Given the description of an element on the screen output the (x, y) to click on. 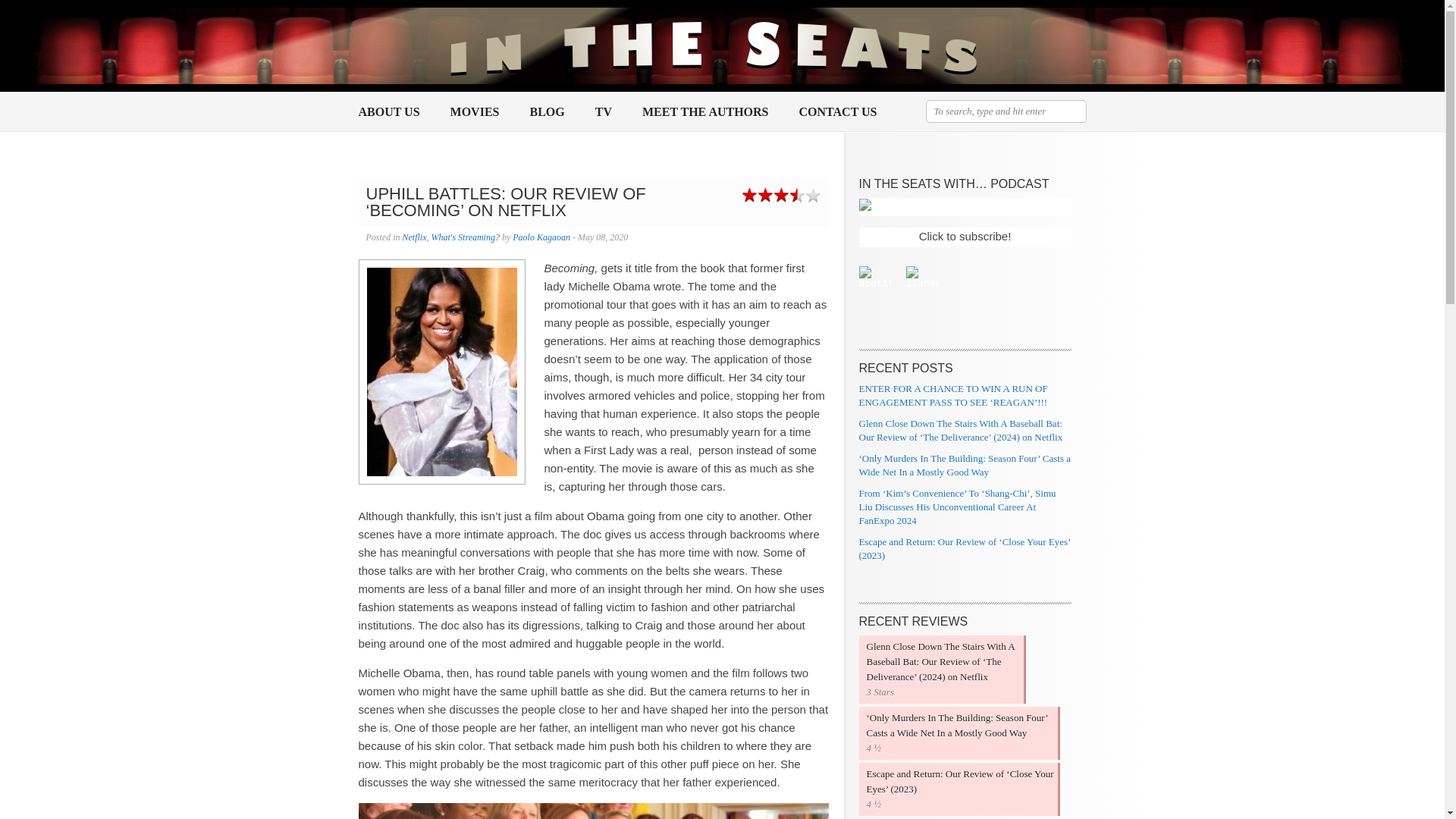
iTunes (928, 278)
MEET THE AUTHORS (705, 112)
Spotify (882, 278)
MOVIES (474, 112)
In The Seats (714, 45)
BLOG (546, 112)
CONTACT US (838, 112)
What's Streaming? (464, 236)
ABOUT US (388, 112)
Paolo Kagaoan (541, 236)
